Given the description of an element on the screen output the (x, y) to click on. 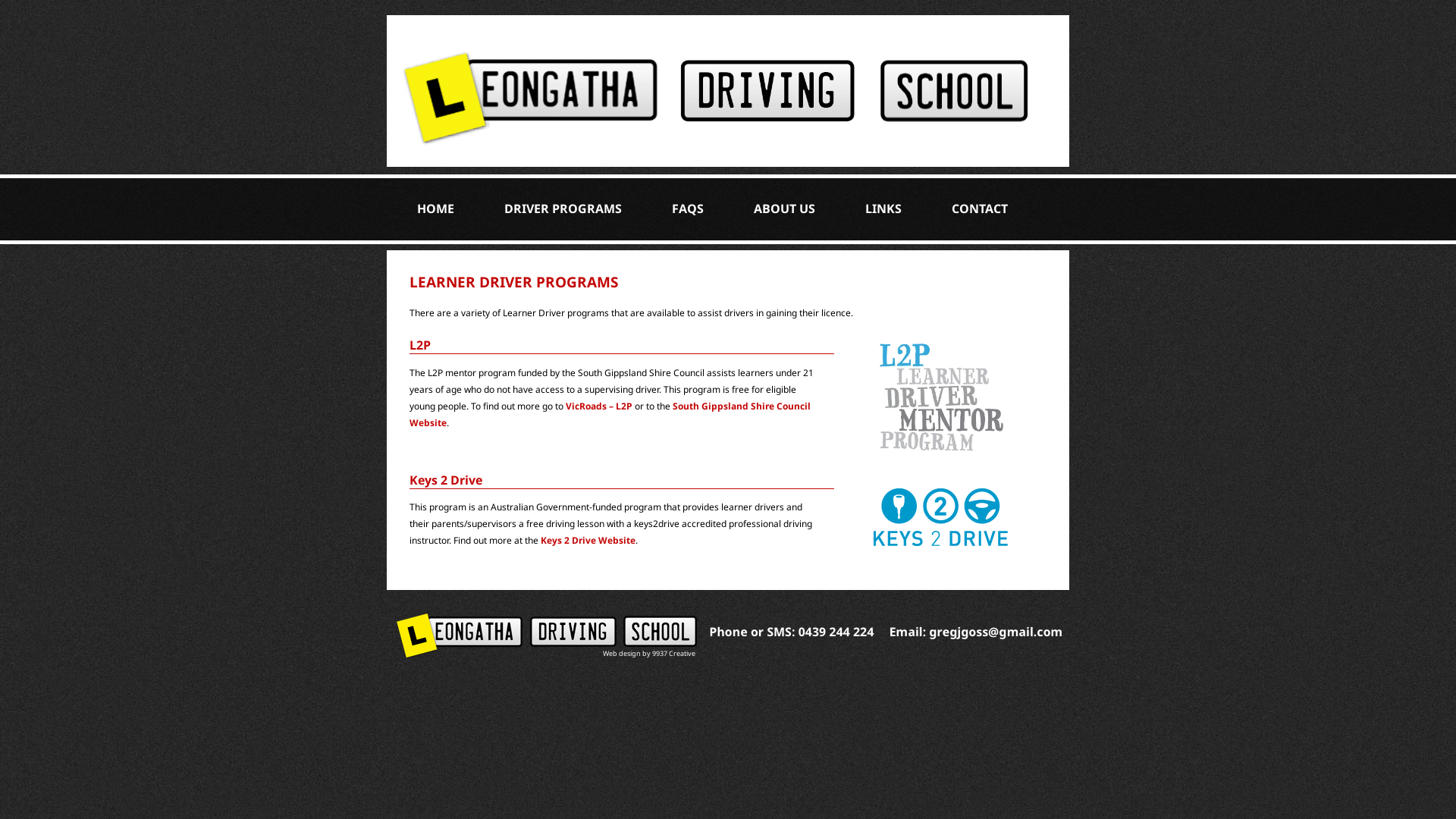
Keys 2 Drive Website Element type: text (587, 539)
South Gippsland Shire Council Website Element type: text (609, 414)
CONTACT Element type: text (979, 208)
LINKS Element type: text (883, 208)
ABOUT US Element type: text (784, 208)
HOME Element type: text (435, 208)
FAQS Element type: text (687, 208)
Web design by 9937 Creative Element type: text (648, 653)
DRIVER PROGRAMS Element type: text (562, 208)
